Given the description of an element on the screen output the (x, y) to click on. 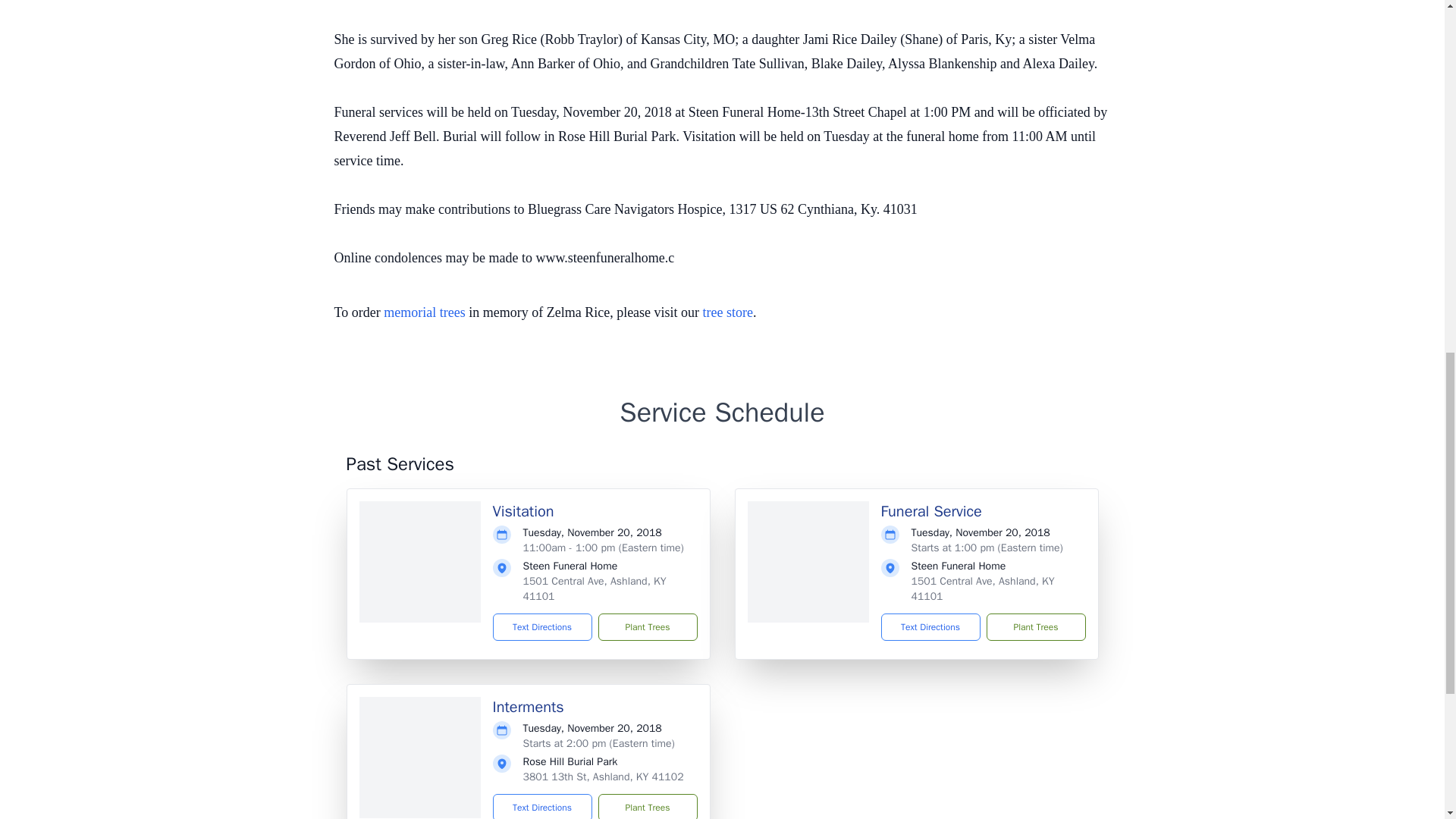
Plant Trees (646, 806)
3801 13th St, Ashland, KY 41102 (603, 776)
1501 Central Ave, Ashland, KY 41101 (982, 588)
Text Directions (542, 806)
Text Directions (929, 626)
Plant Trees (1034, 626)
memorial trees (424, 312)
Text Directions (542, 626)
tree store (727, 312)
Plant Trees (646, 626)
